Given the description of an element on the screen output the (x, y) to click on. 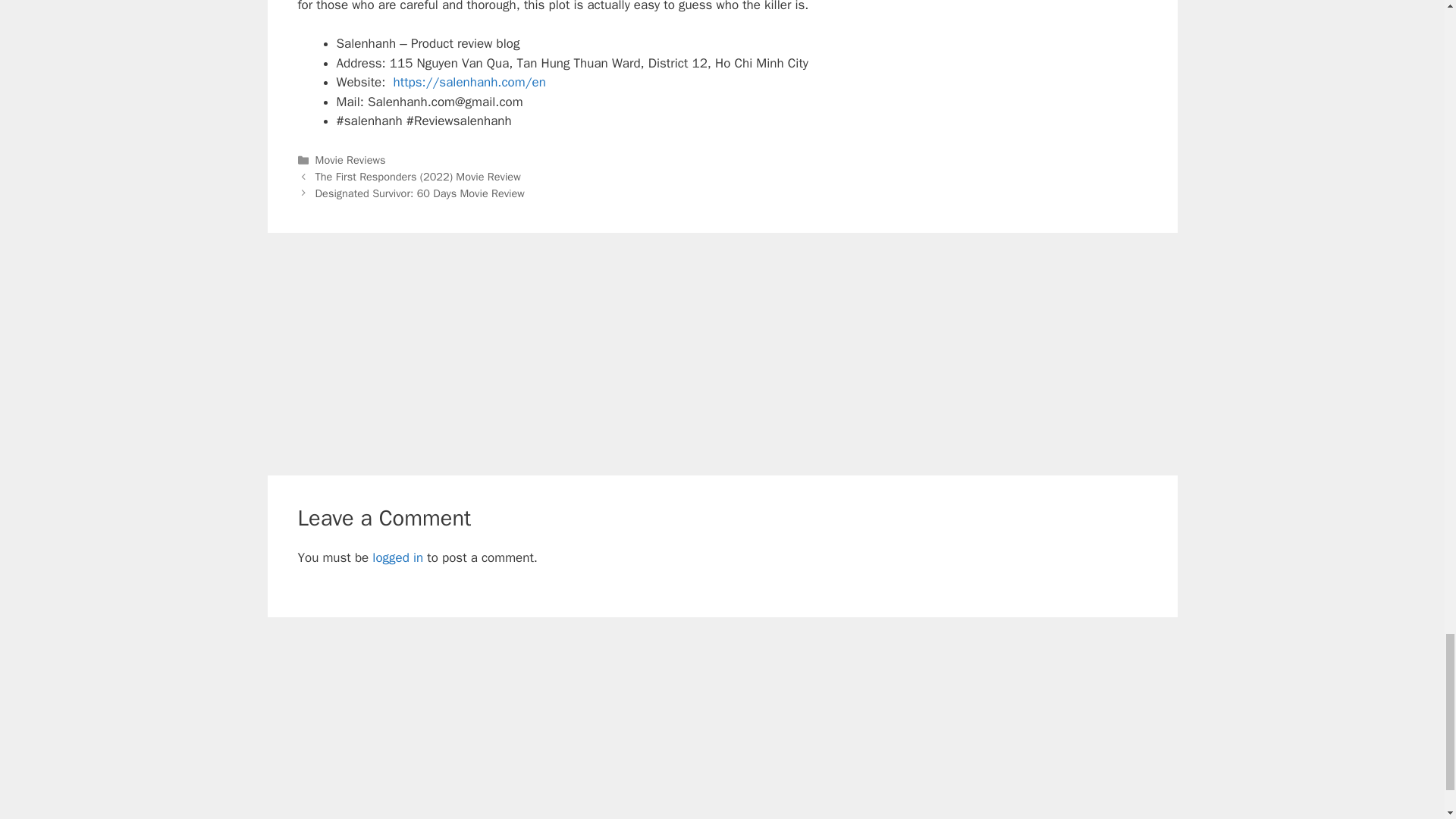
logged in (397, 557)
Movie Reviews (350, 160)
Designated Survivor: 60 Days Movie Review (419, 192)
